Given the description of an element on the screen output the (x, y) to click on. 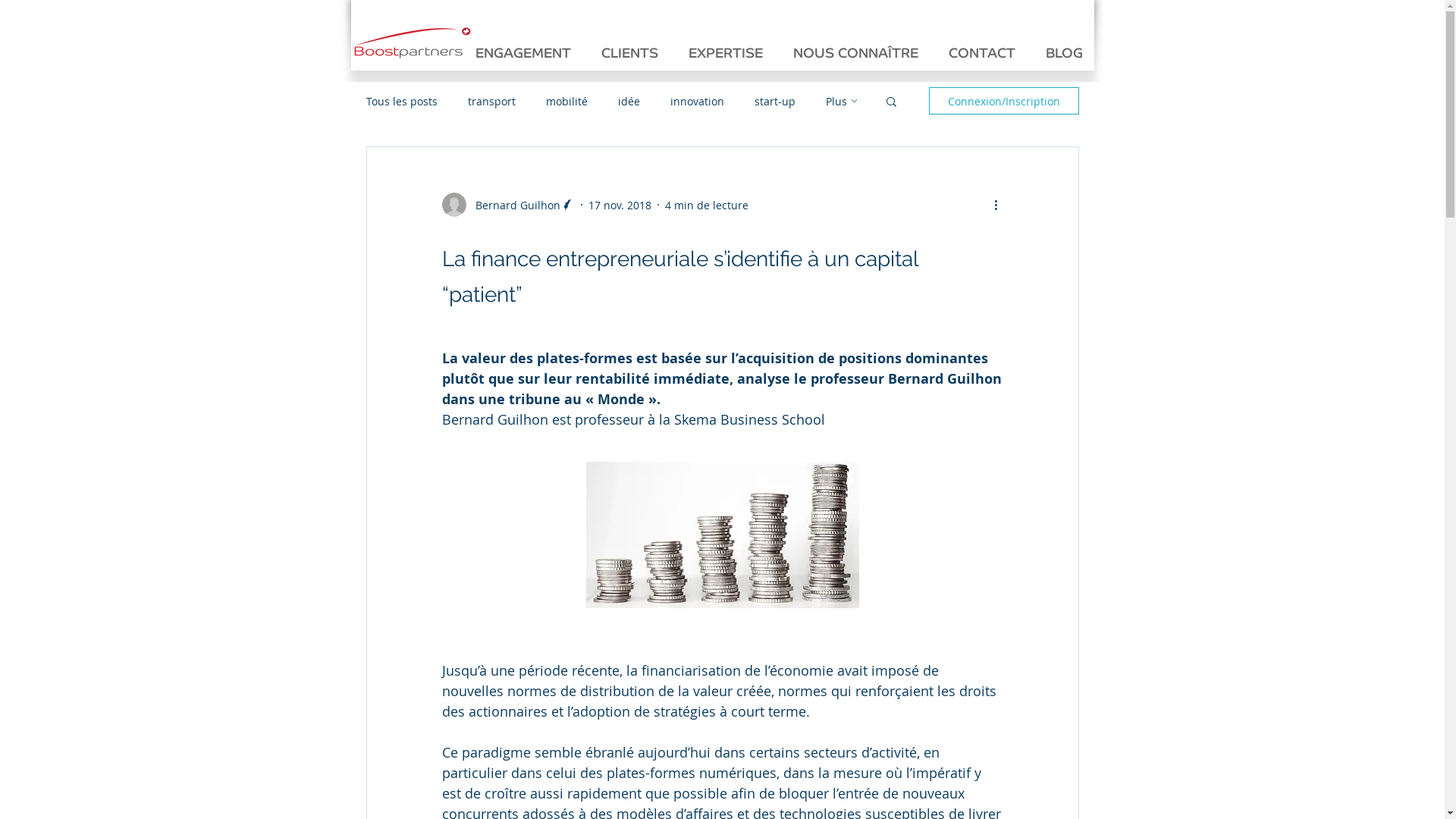
CONTACT Element type: text (981, 53)
BLOG Element type: text (1064, 53)
EXPERTISE Element type: text (725, 53)
Connexion/Inscription Element type: text (1003, 100)
CLIENTS Element type: text (629, 53)
ENGAGEMENT Element type: text (523, 53)
